Given the description of an element on the screen output the (x, y) to click on. 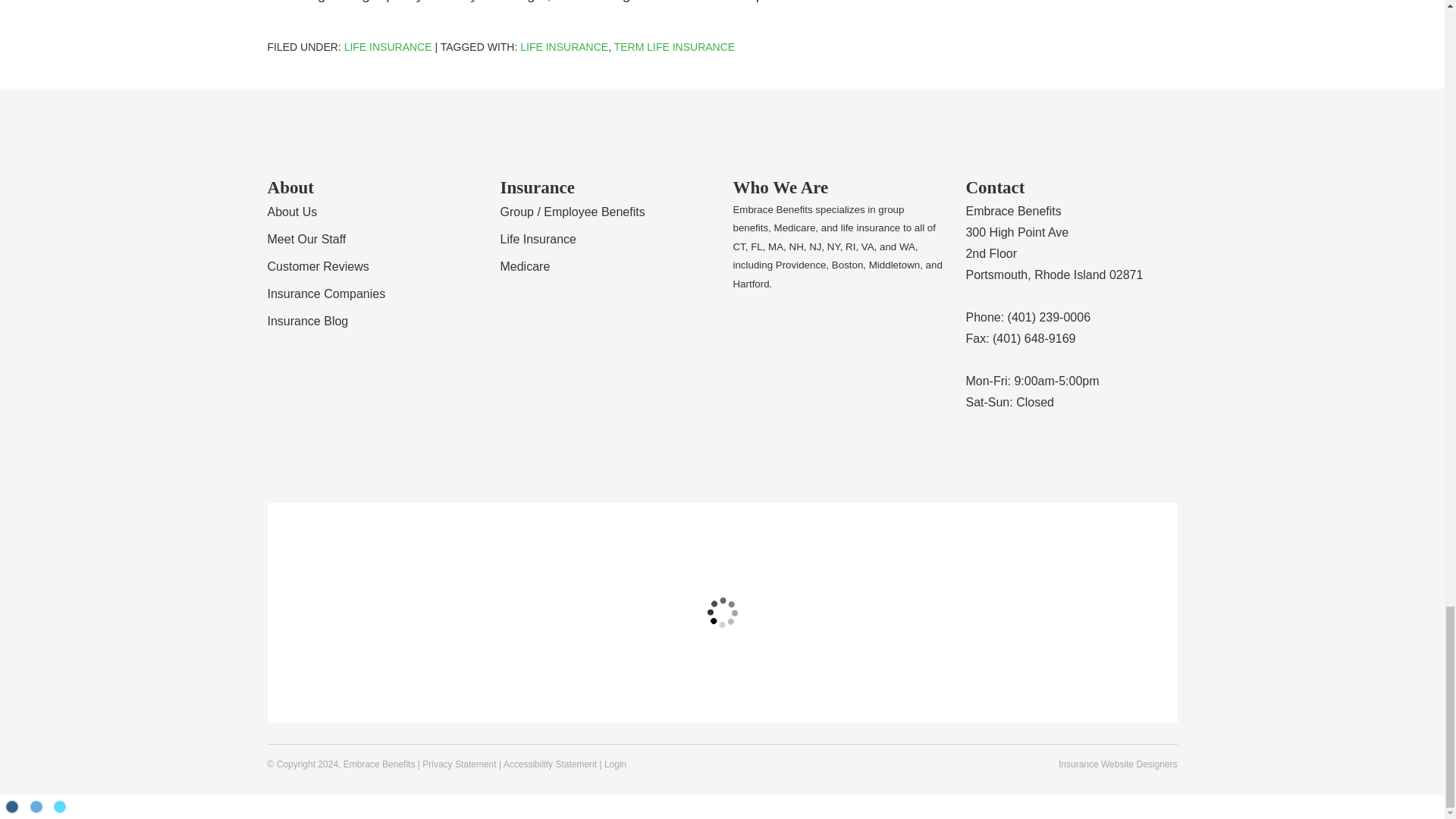
Facebook (1036, 446)
LIFE INSURANCE (387, 46)
Life Insurance (387, 46)
LIFE INSURANCE (563, 46)
X (1066, 446)
Google Maps (977, 446)
Life Insurance (563, 46)
Yelp (1006, 446)
Term Life Insurance (674, 46)
